Given the description of an element on the screen output the (x, y) to click on. 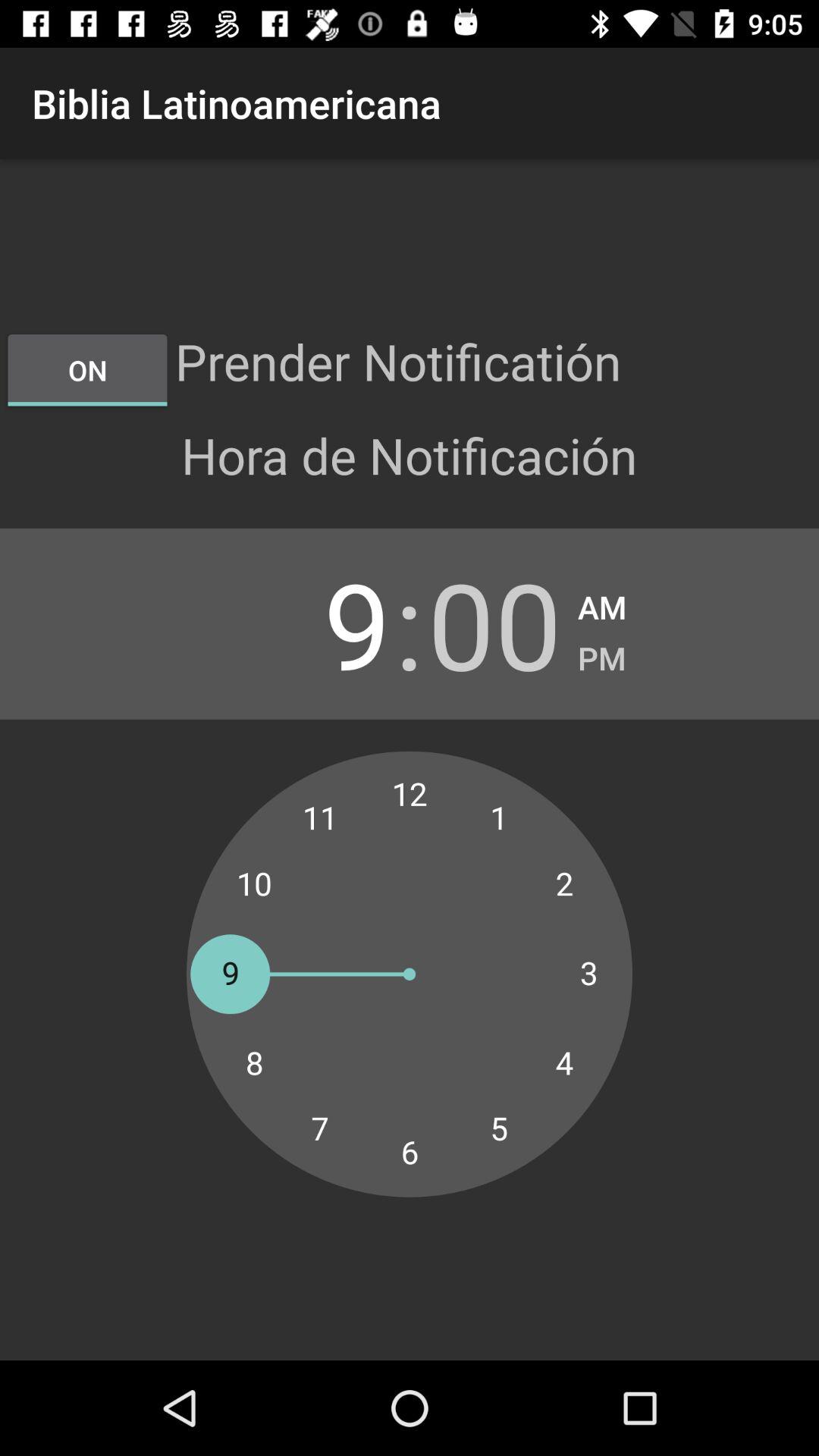
choose item to the right of 00 (601, 653)
